Given the description of an element on the screen output the (x, y) to click on. 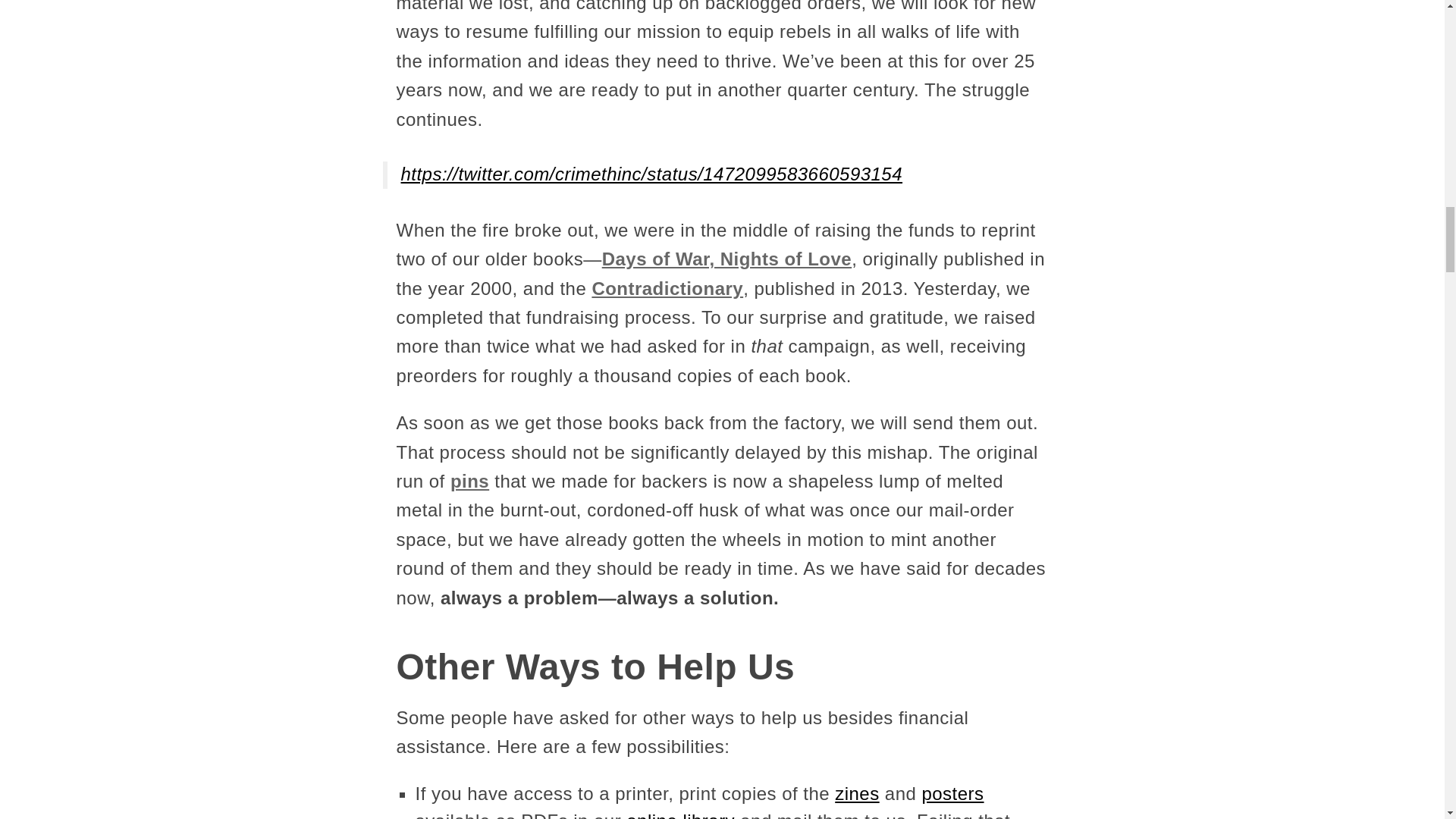
pins (469, 480)
Contradictionary (666, 288)
zines (856, 792)
online library (680, 814)
posters (952, 792)
Days of War, Nights of Love (726, 258)
